Given the description of an element on the screen output the (x, y) to click on. 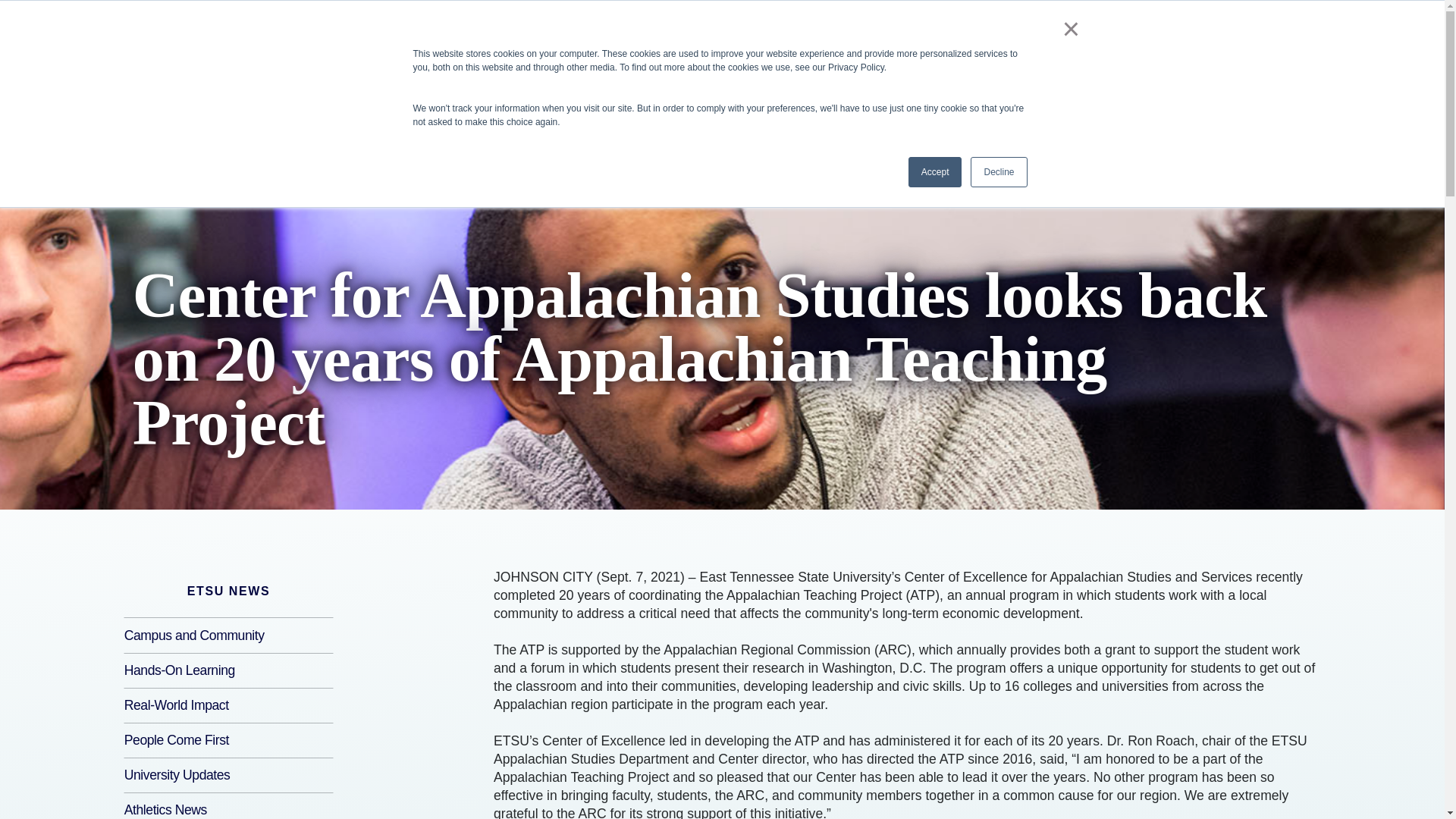
Search etsu.edu (1371, 20)
ETSU Homepage (145, 20)
Decline (998, 172)
Accept (935, 172)
